Given the description of an element on the screen output the (x, y) to click on. 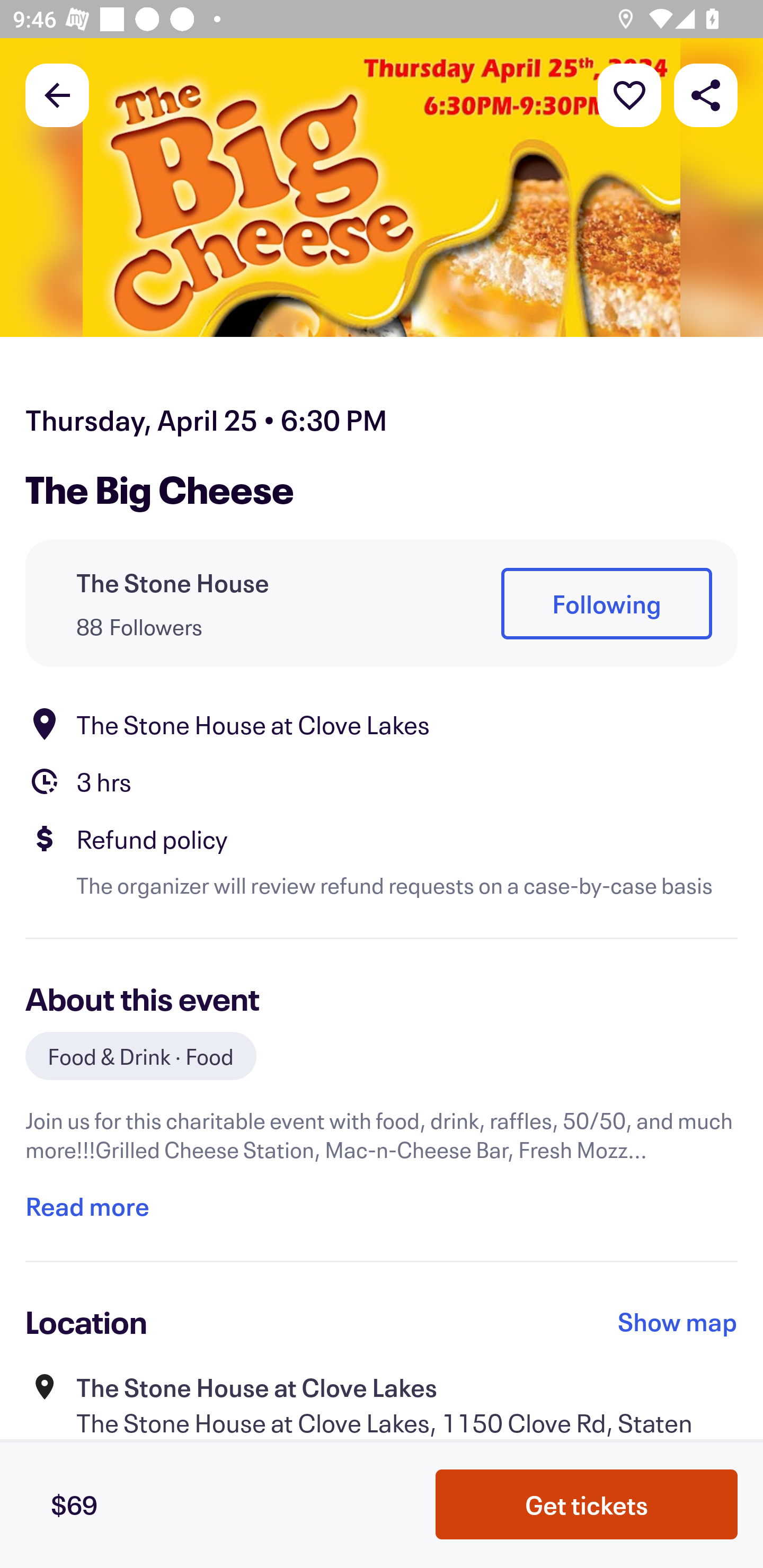
Back (57, 94)
More (629, 94)
Share (705, 94)
The Stone House (172, 582)
Following (606, 603)
Location The Stone House at Clove Lakes (381, 724)
Read more (87, 1206)
Show map (677, 1321)
Get tickets (586, 1504)
